Given the description of an element on the screen output the (x, y) to click on. 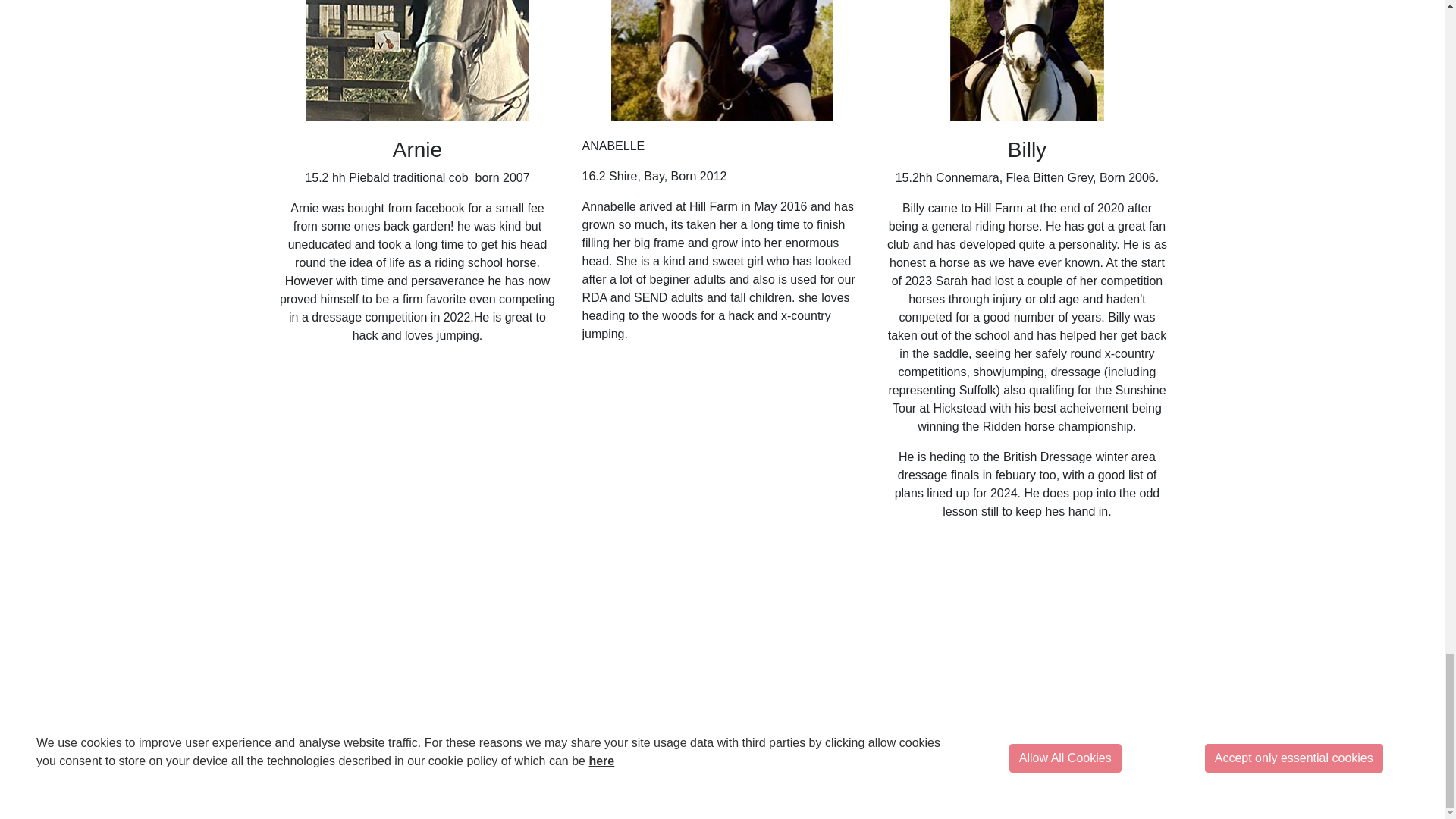
07845 320 424 (1246, 757)
Privacy Policy (647, 800)
Refund policy (797, 800)
Cookie Policy (722, 800)
